Given the description of an element on the screen output the (x, y) to click on. 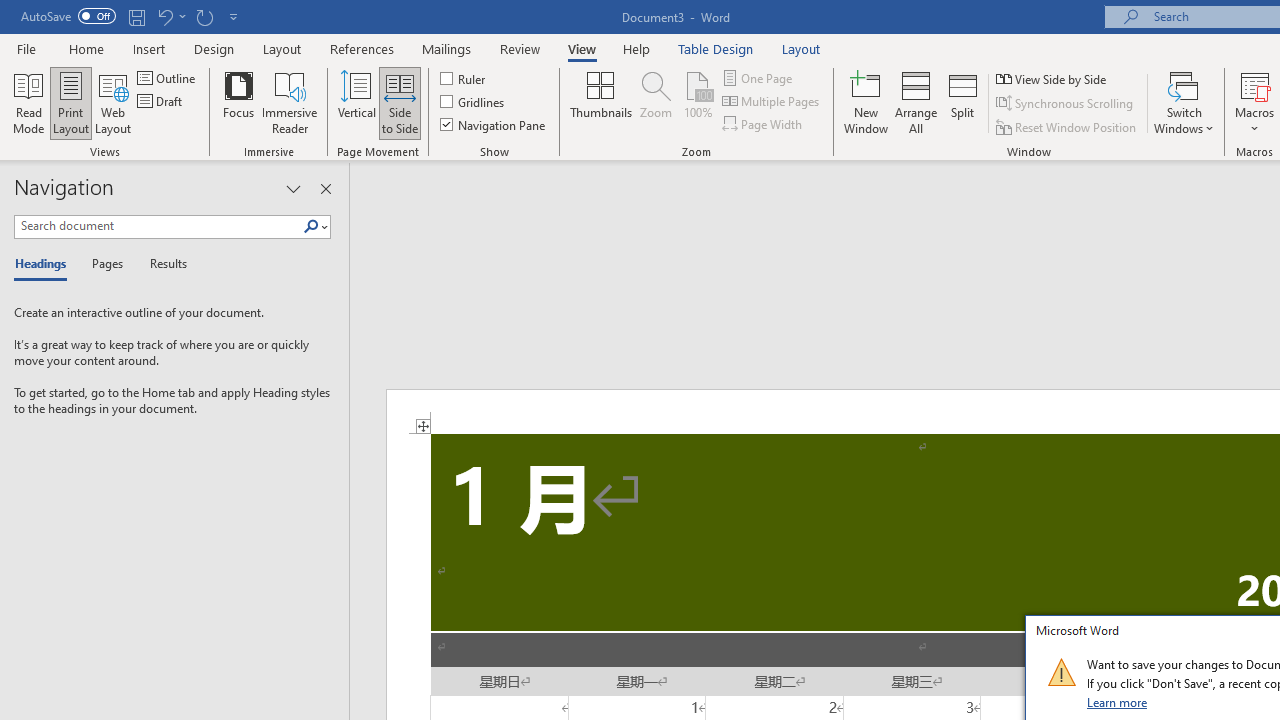
Reset Window Position (1068, 126)
View Macros (1254, 84)
View Side by Side (1053, 78)
Page Width (763, 124)
